Given the description of an element on the screen output the (x, y) to click on. 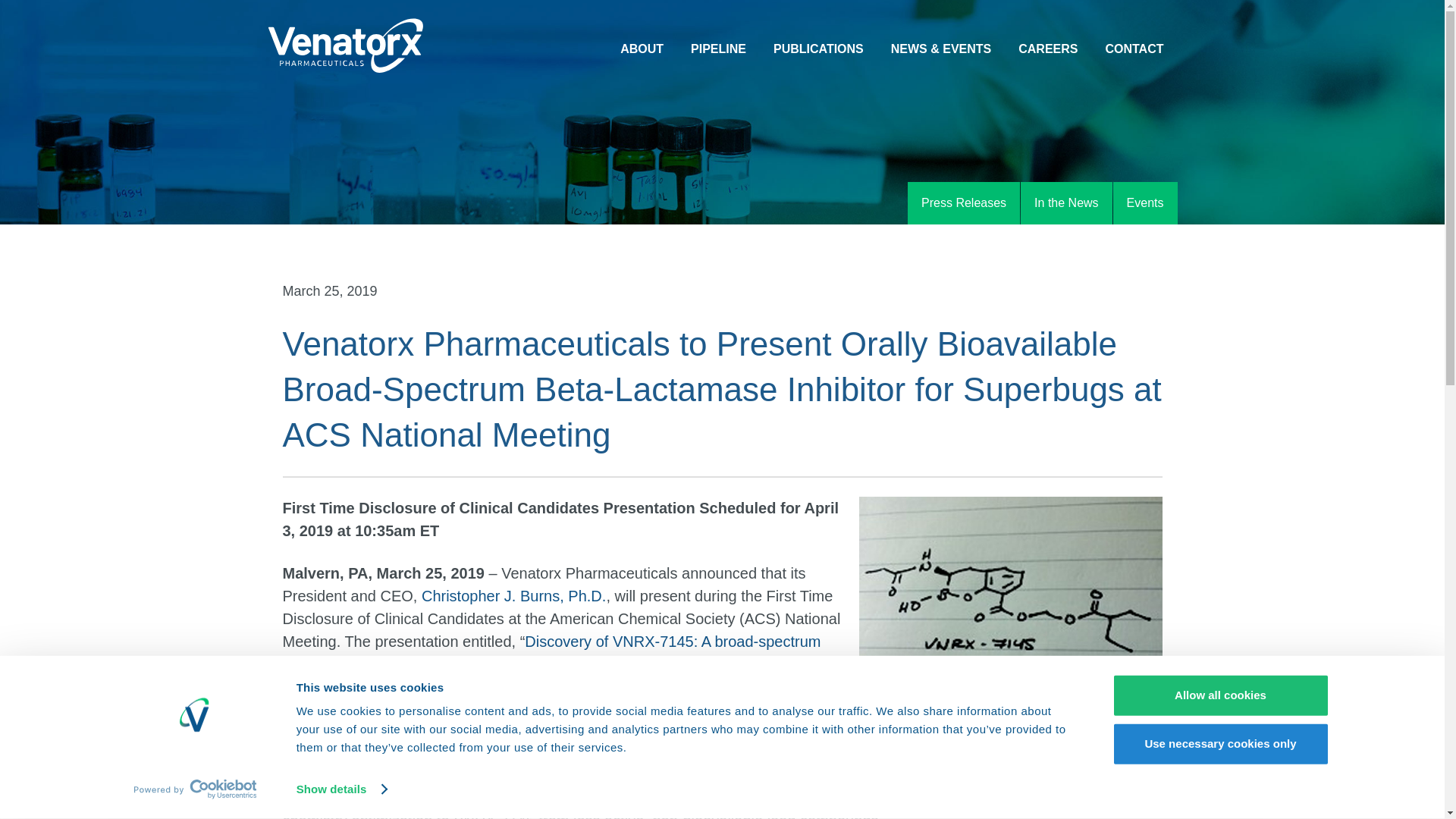
Use necessary cookies only (1219, 743)
PIPELINE (718, 49)
Show details (341, 789)
ABOUT (642, 49)
Allow all cookies (1219, 695)
